Given the description of an element on the screen output the (x, y) to click on. 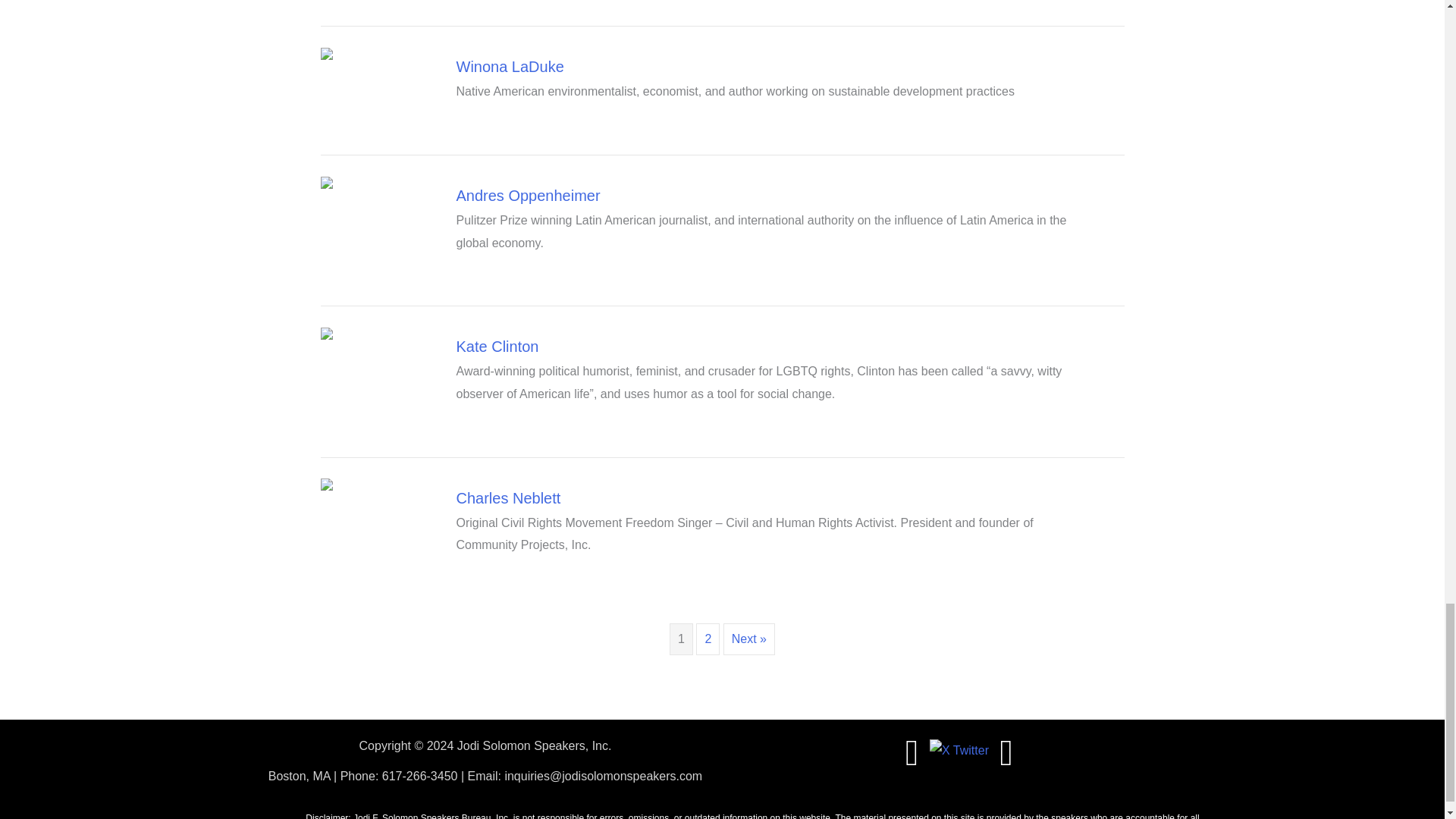
Winona LaDuke (510, 66)
Winona LaDuke (510, 66)
Kate Clinton (497, 346)
Andres Oppenheimer (528, 195)
Charles Neblett (508, 497)
